Given the description of an element on the screen output the (x, y) to click on. 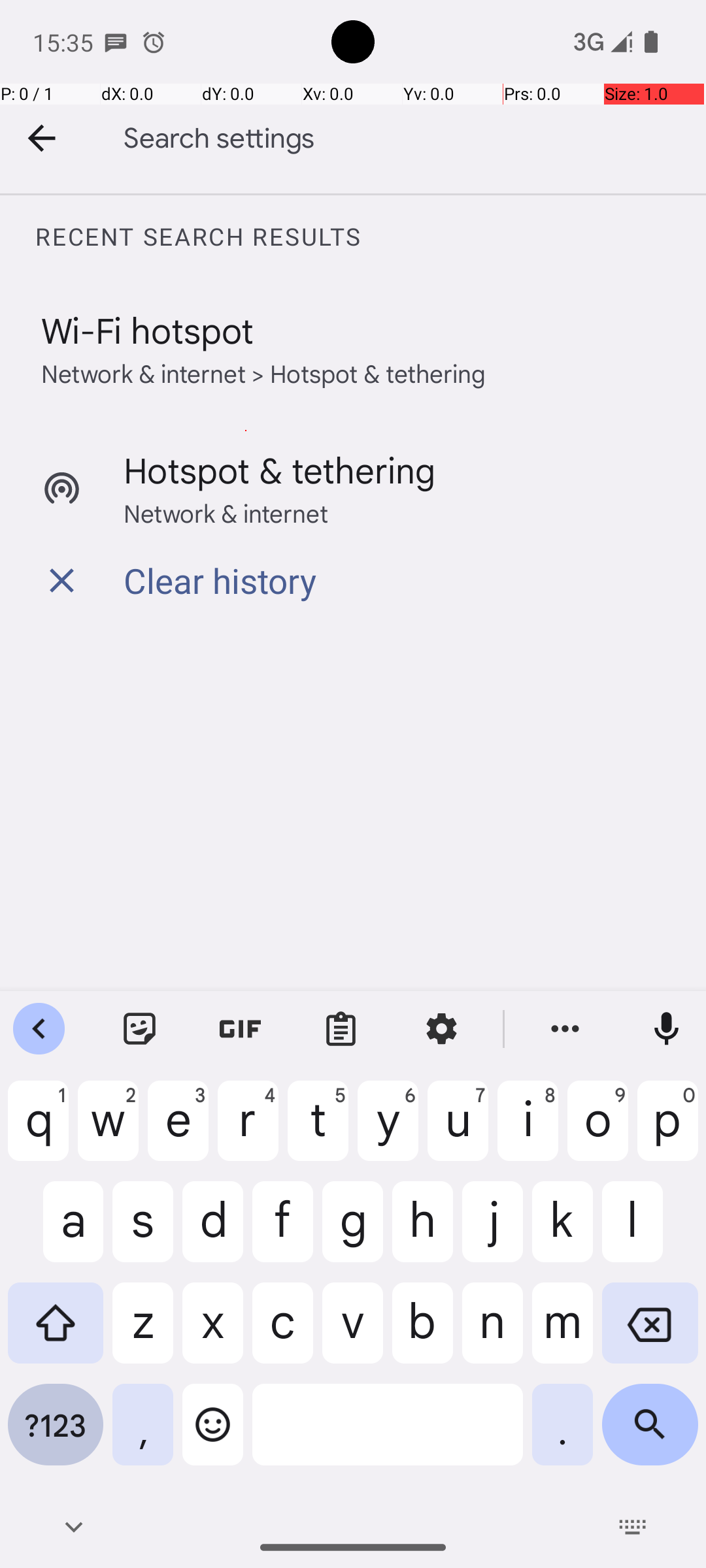
RECENT SEARCH RESULTS Element type: android.widget.TextView (370, 236)
Wi-Fi hotspot Element type: android.widget.TextView (147, 329)
Network & internet > Hotspot & tethering Element type: android.widget.TextView (263, 372)
Clear history Element type: android.widget.TextView (219, 580)
